Given the description of an element on the screen output the (x, y) to click on. 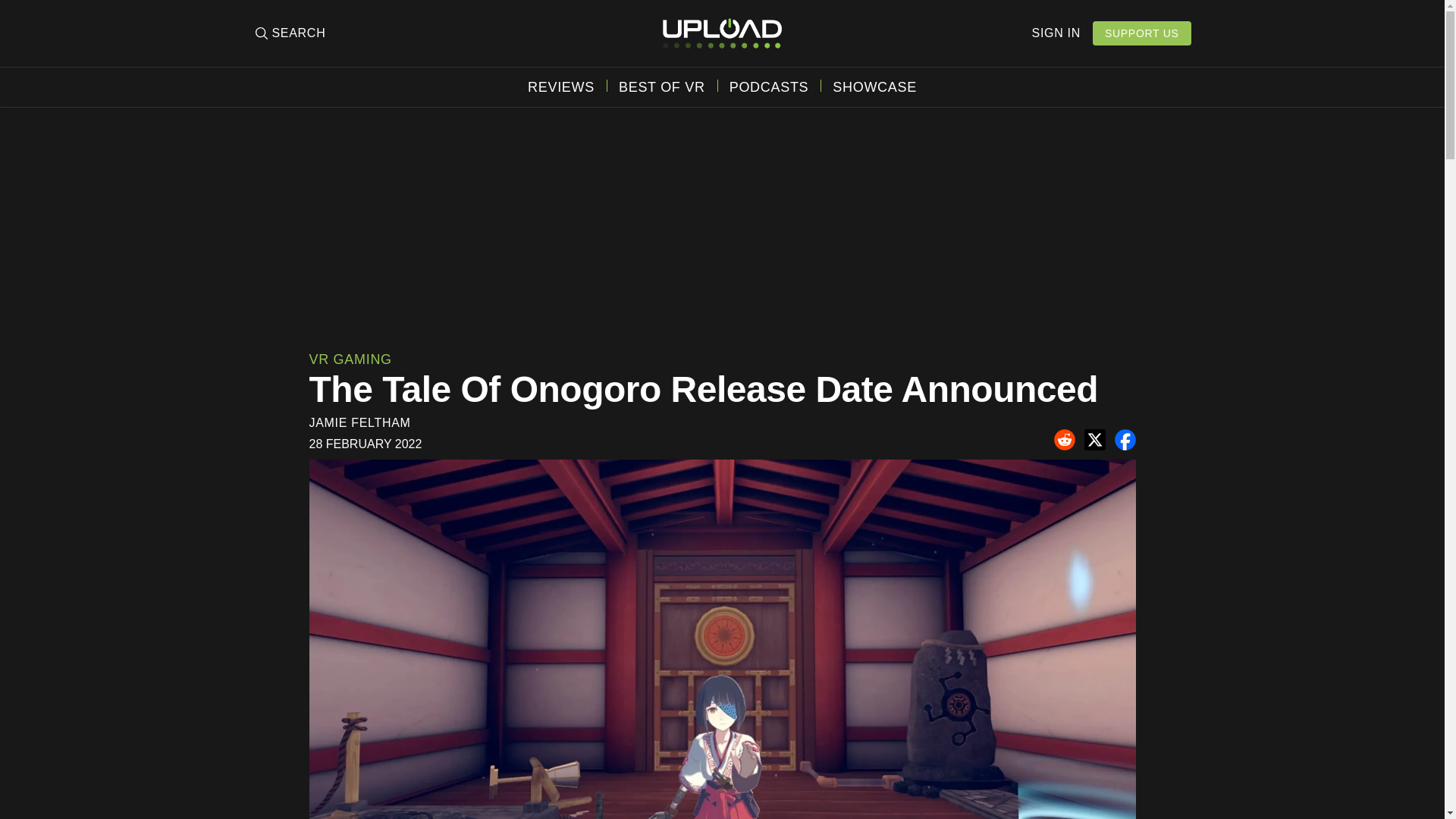
Share to Reddit (1064, 439)
JAMIE FELTHAM (359, 422)
Share to Twitter (1094, 439)
VR GAMING (349, 359)
REVIEWS (560, 87)
Share to Facebook (1125, 439)
PODCASTS (769, 87)
SEARCH (288, 32)
SHOWCASE (874, 87)
SIGN IN (1056, 32)
SUPPORT US (1142, 33)
BEST OF VR (661, 87)
